Given the description of an element on the screen output the (x, y) to click on. 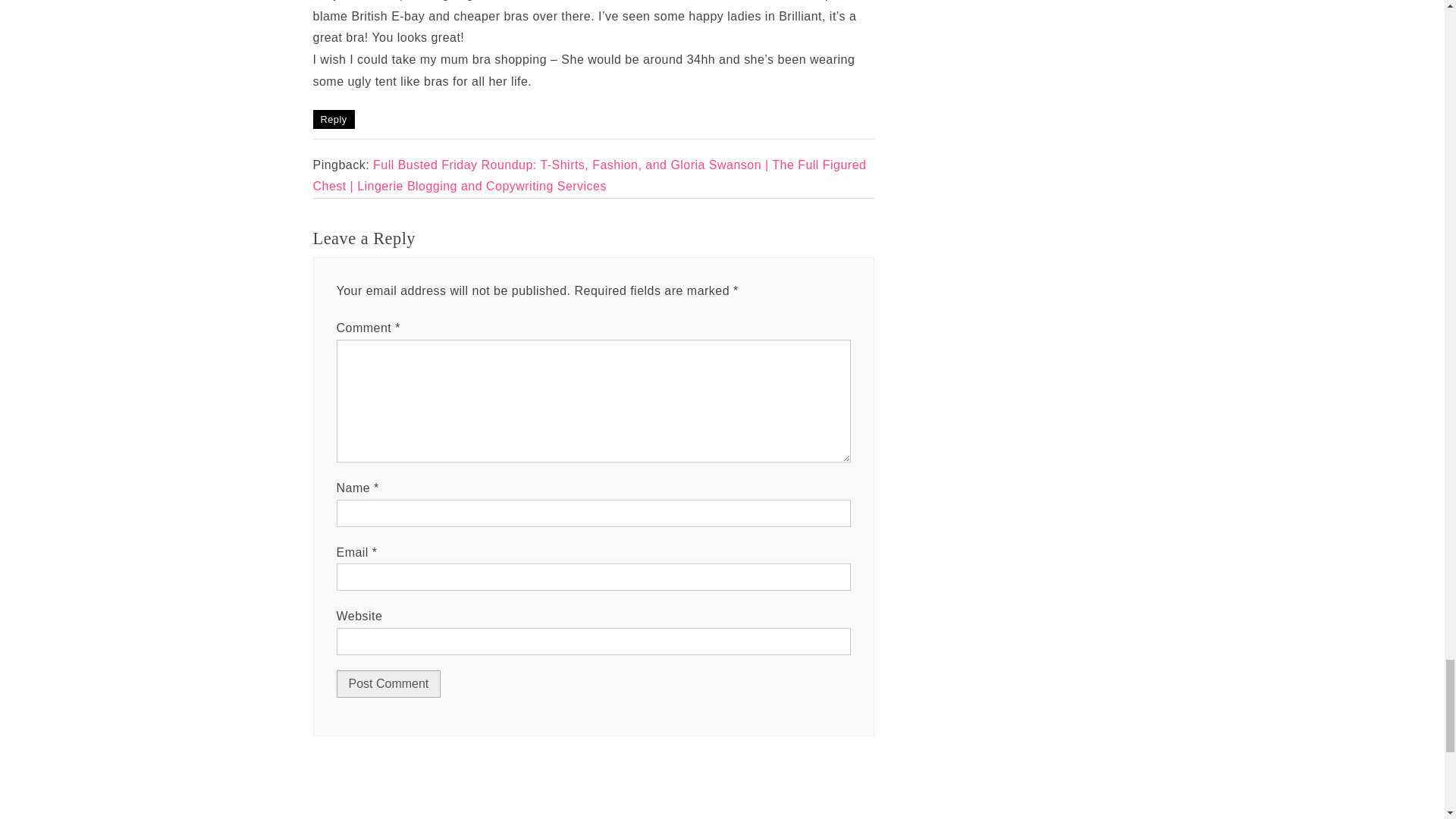
Post Comment (388, 683)
Post Comment (388, 683)
Reply (333, 118)
